Given the description of an element on the screen output the (x, y) to click on. 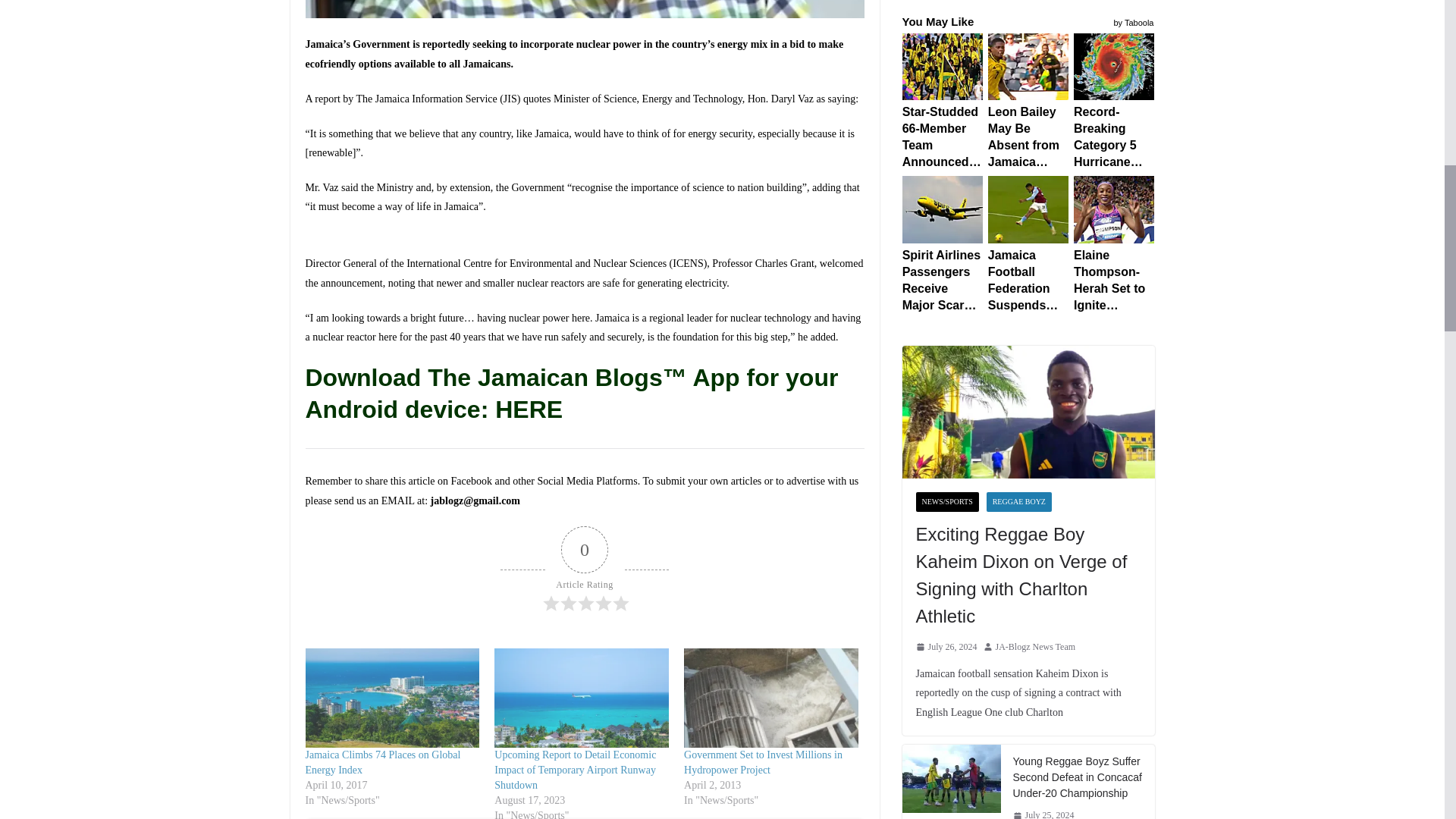
Jamaica Climbs 74 Places on Global Energy Index (382, 762)
Government Set to Invest Millions in Hydropower Project (763, 762)
Jamaica Climbs 74 Places on Global Energy Index (391, 697)
Jamaica Climbs 74 Places on Global Energy Index (382, 762)
Government Set to Invest Millions in Hydropower Project (771, 697)
